Given the description of an element on the screen output the (x, y) to click on. 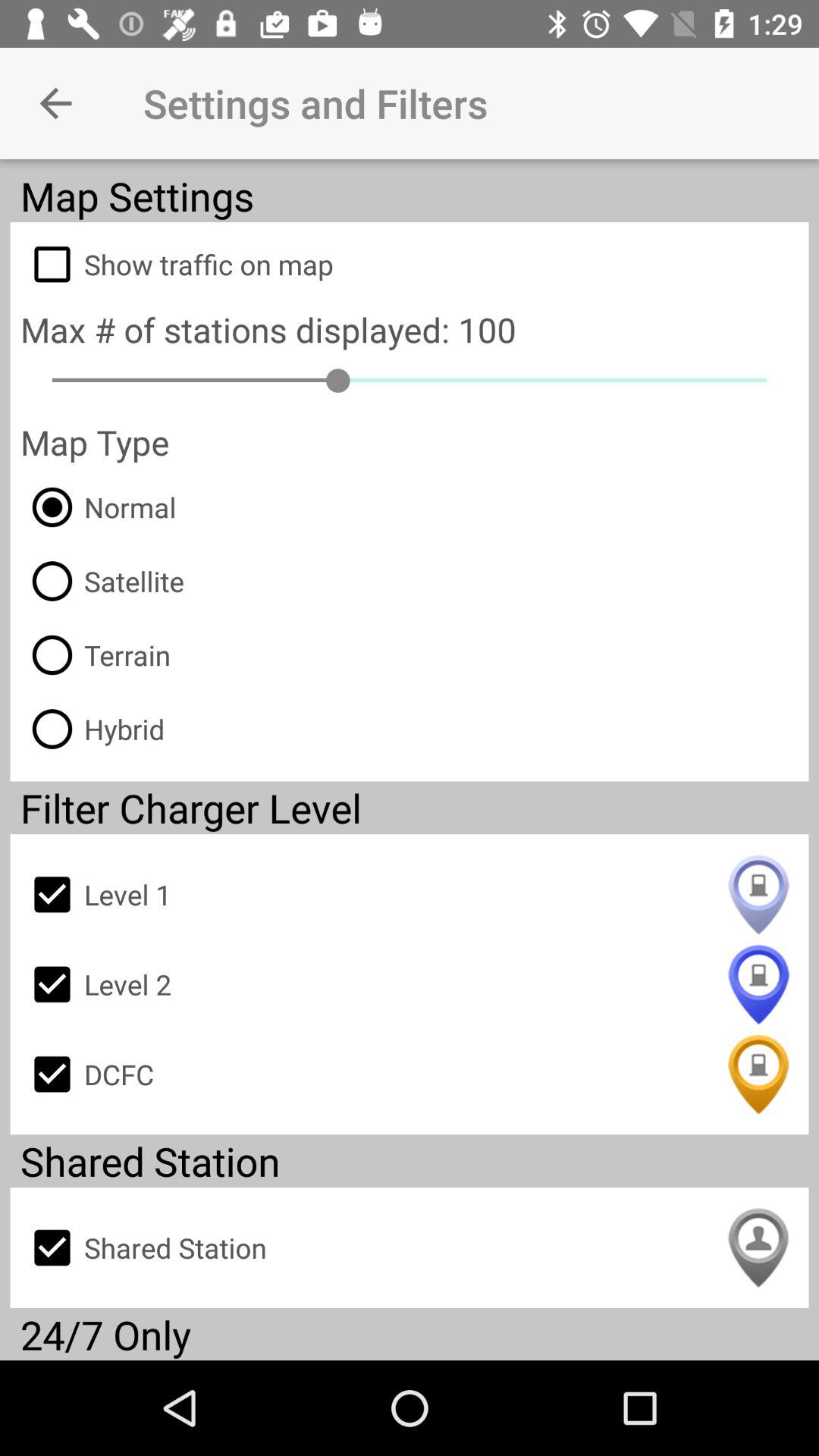
turn off the item above terrain item (102, 581)
